Given the description of an element on the screen output the (x, y) to click on. 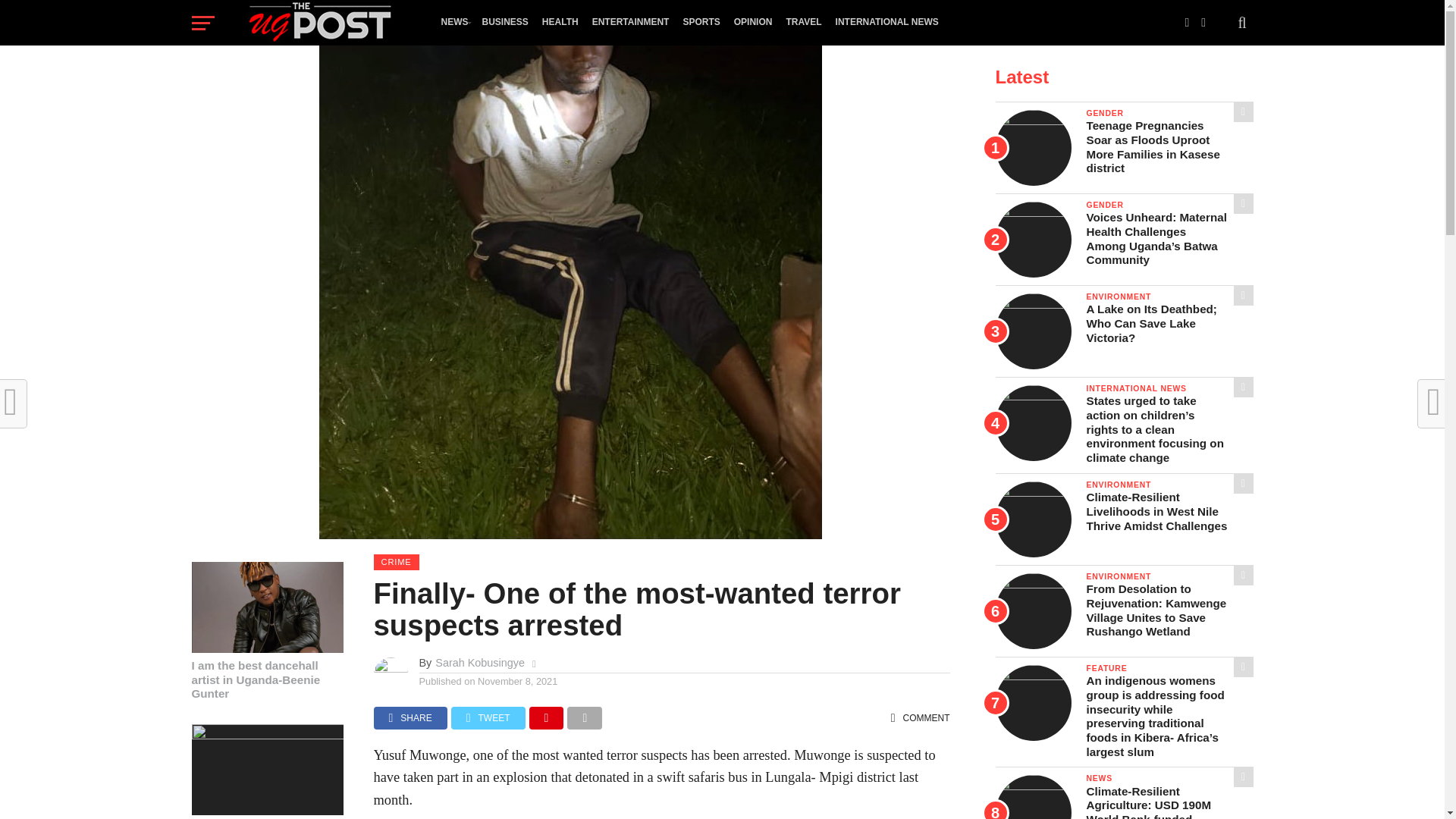
Posts by Sarah Kobusingye (479, 662)
OPINION (752, 22)
INTERNATIONAL NEWS (886, 22)
HEALTH (560, 22)
SPORTS (700, 22)
NEWS (453, 22)
Equity Bank Uganda Launches Innovation Hub (266, 735)
I am the best dancehall artist in Uganda-Beenie Gunter (266, 680)
I am the best dancehall artist in Uganda-Beenie Gunter (266, 648)
GRANTS (459, 65)
TRAVEL (803, 22)
BUSINESS (504, 22)
ENTERTAINMENT (631, 22)
